Given the description of an element on the screen output the (x, y) to click on. 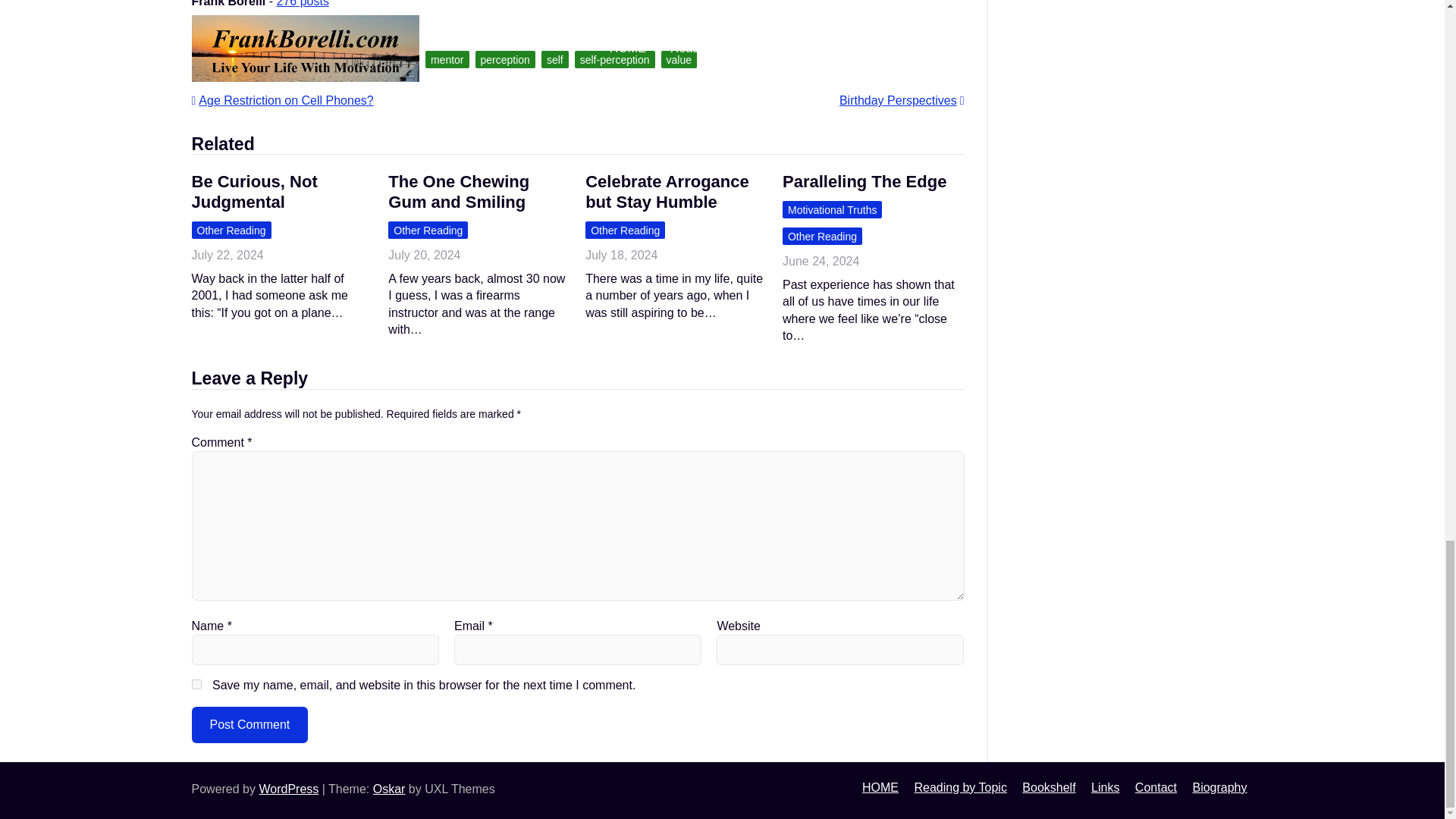
yes (195, 684)
Frank (369, 58)
mentor (446, 58)
cosmic (323, 58)
self-perception (615, 58)
self (555, 58)
value (679, 58)
Post Comment (248, 724)
Age Restriction on Cell Phones? (281, 100)
Be Curious, Not Judgmental (253, 190)
